Given the description of an element on the screen output the (x, y) to click on. 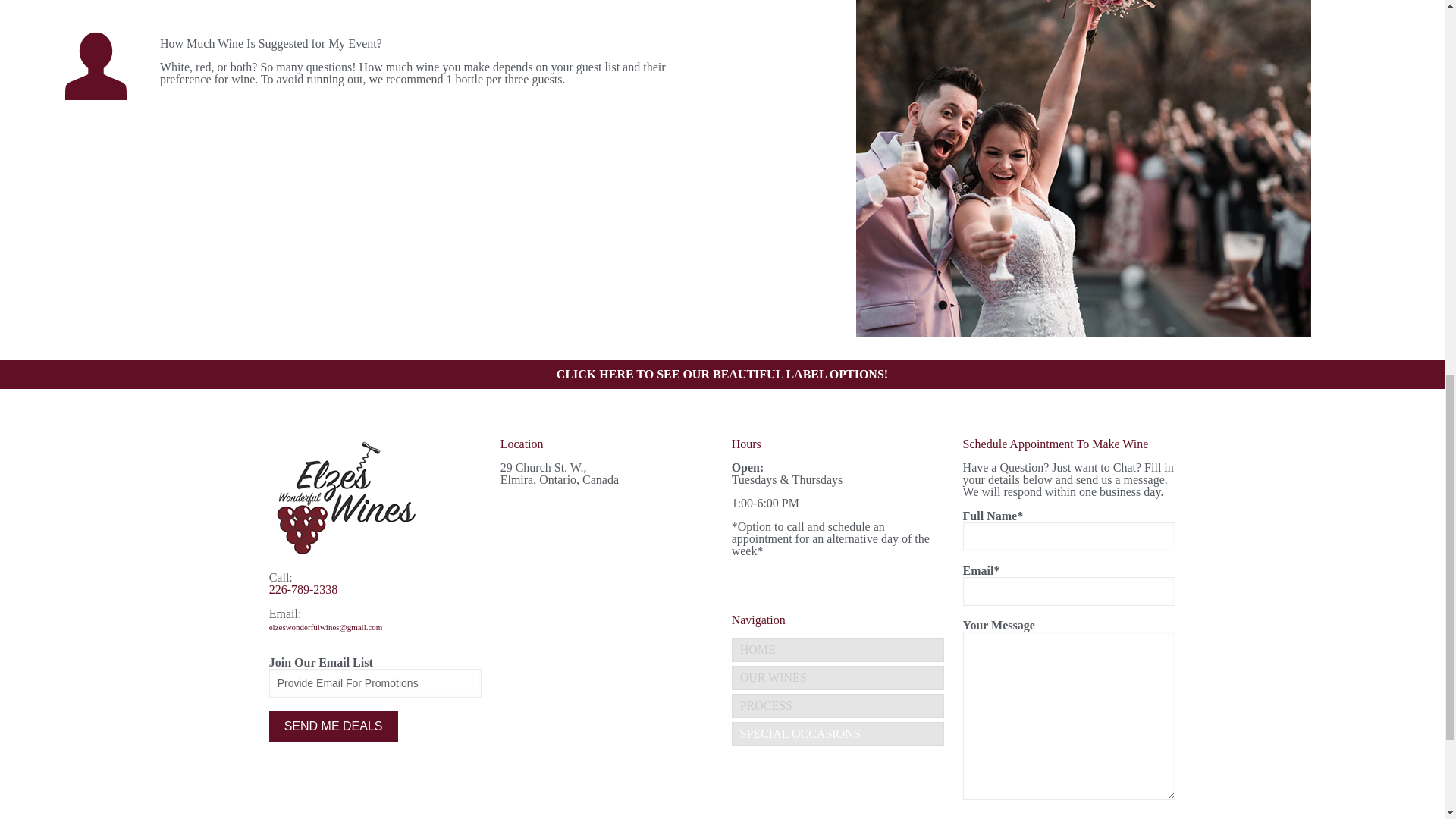
Provide Email For Promotions (375, 683)
SEND ME DEALS (333, 726)
226-789-2338 (303, 589)
OUR WINES (838, 677)
SEND ME DEALS (333, 726)
SPECIAL OCCASIONS (838, 733)
PROCESS (838, 705)
HOME (838, 649)
